Given the description of an element on the screen output the (x, y) to click on. 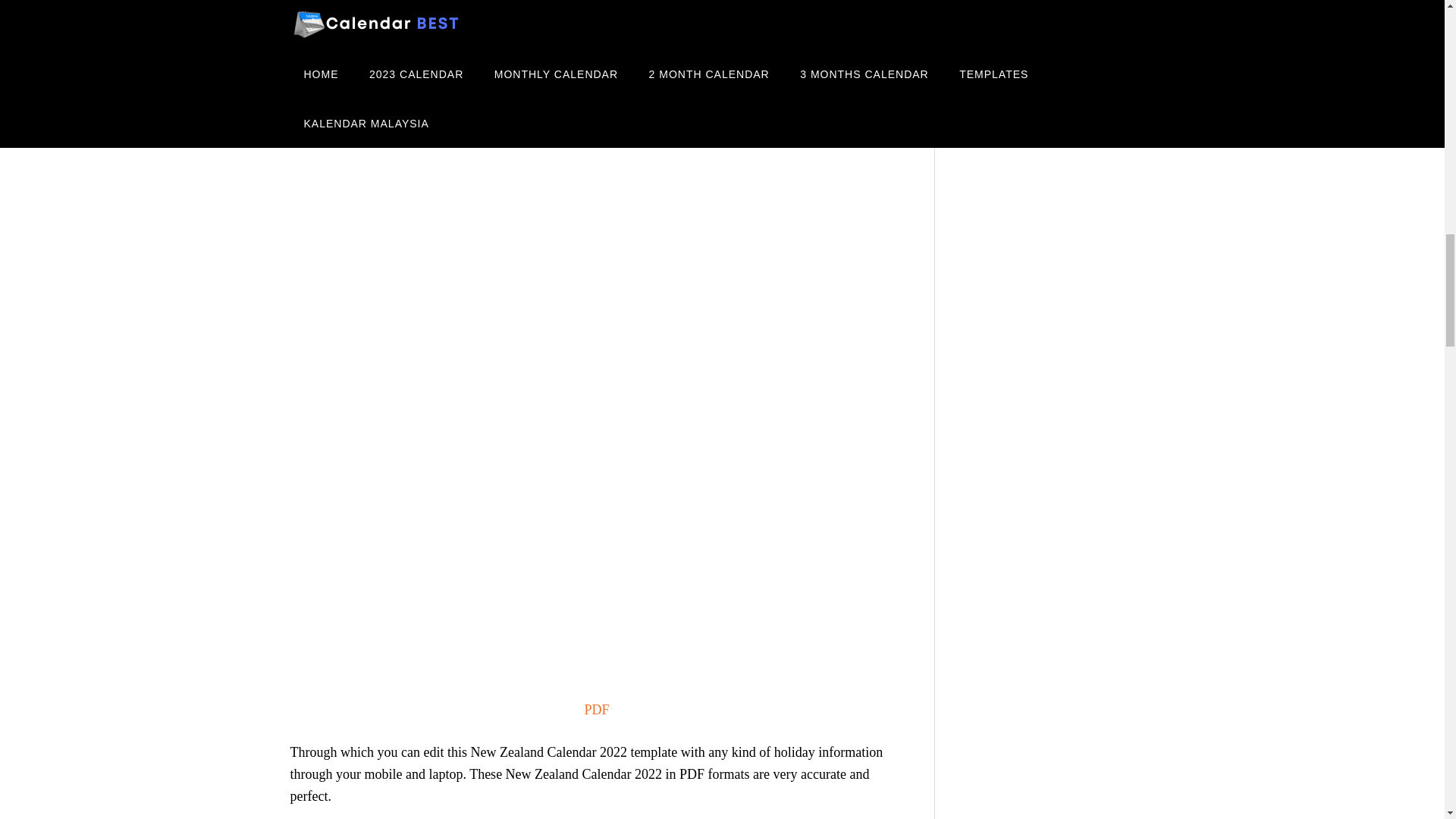
PDF (595, 709)
